Given the description of an element on the screen output the (x, y) to click on. 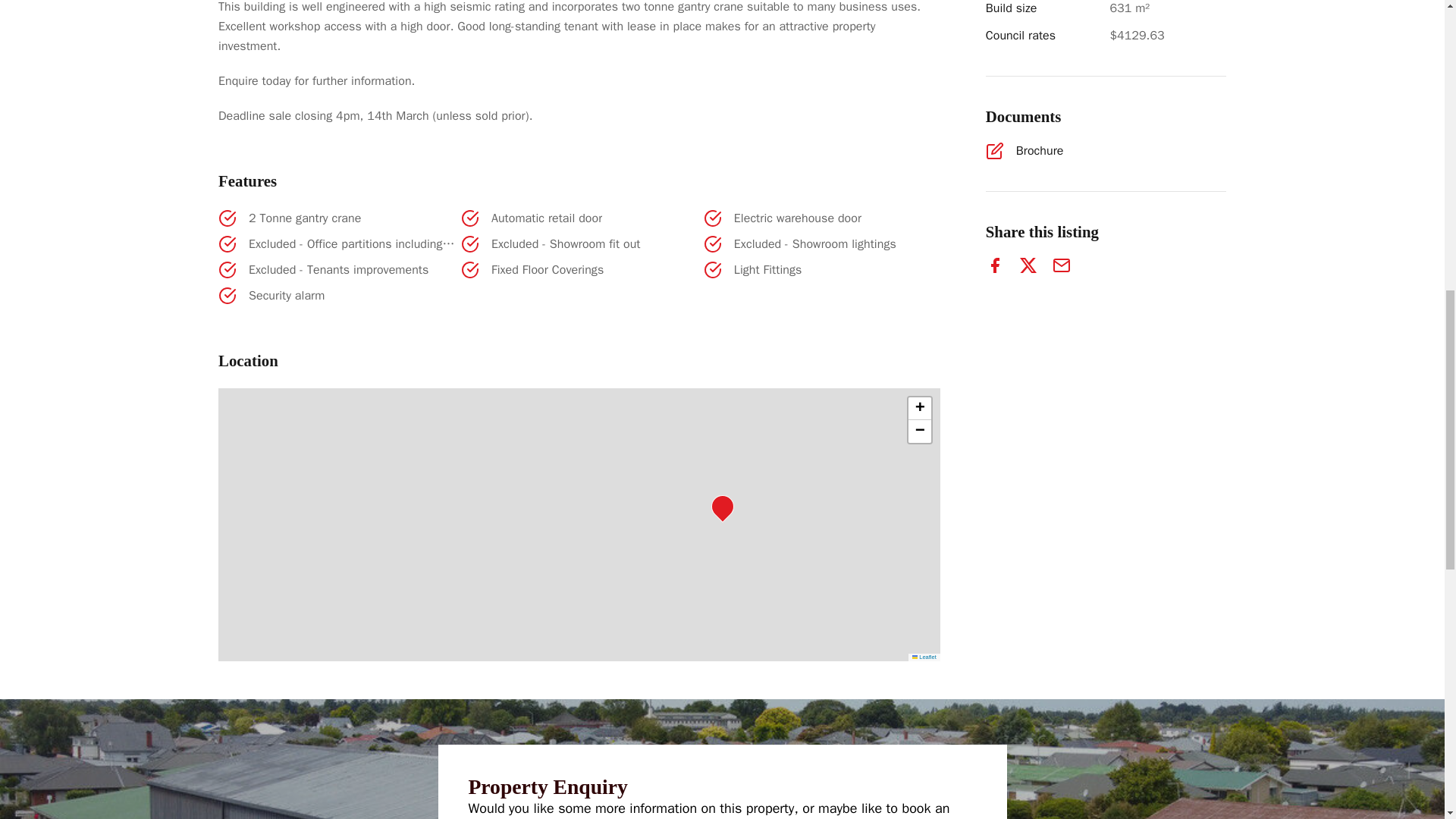
Zoom out (919, 431)
A JavaScript library for interactive maps (924, 656)
Zoom in (919, 408)
